Given the description of an element on the screen output the (x, y) to click on. 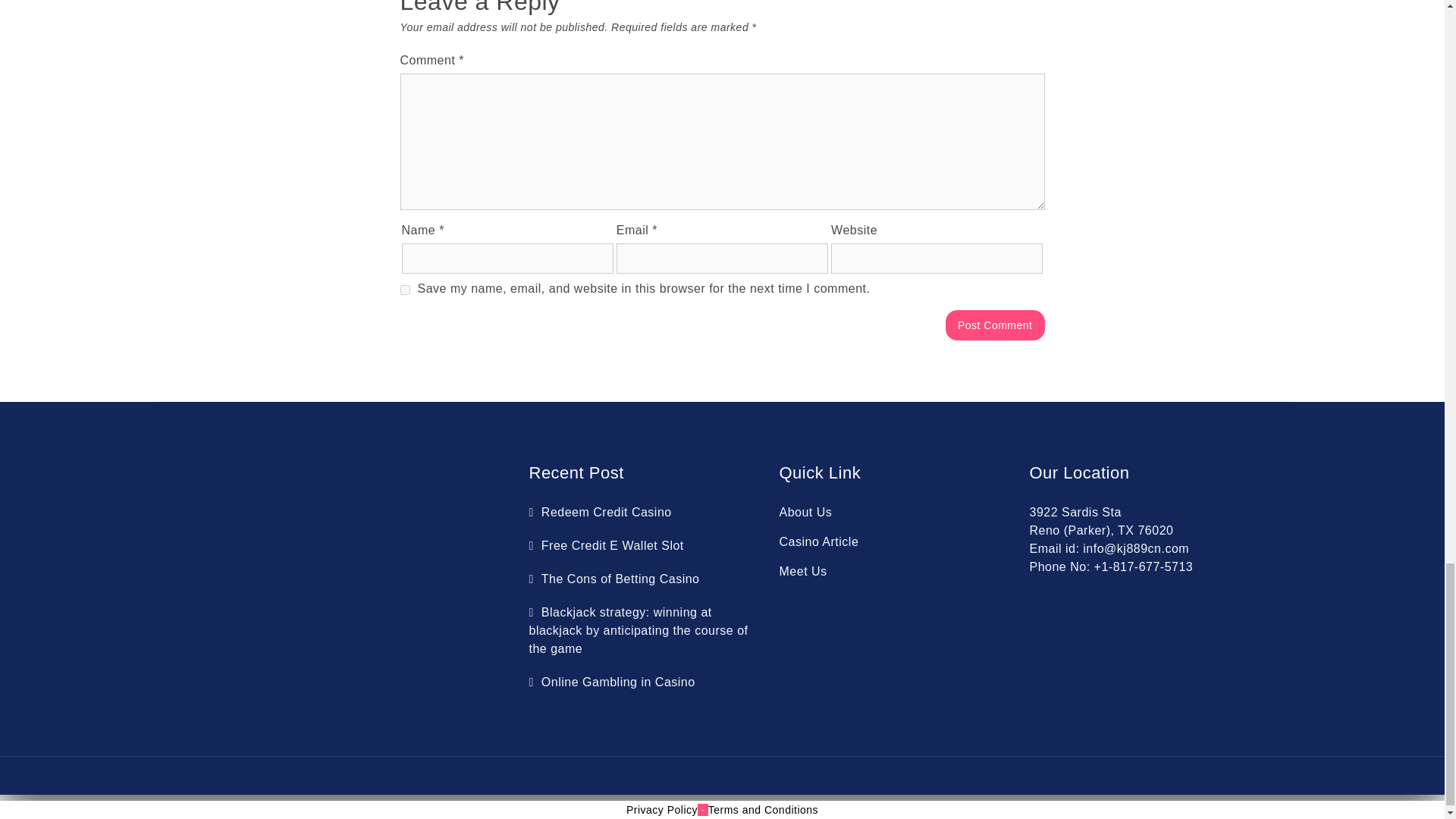
The Cons of Betting Casino  (616, 578)
About Us (805, 512)
Meet Us (802, 571)
Post Comment (994, 325)
Terms and Conditions (762, 809)
Privacy Policy (661, 809)
Free Credit E Wallet Slot (606, 545)
Online Gambling in Casino (612, 681)
Casino Article (818, 541)
Post Comment (994, 325)
Redeem Credit Casino (600, 512)
